Given the description of an element on the screen output the (x, y) to click on. 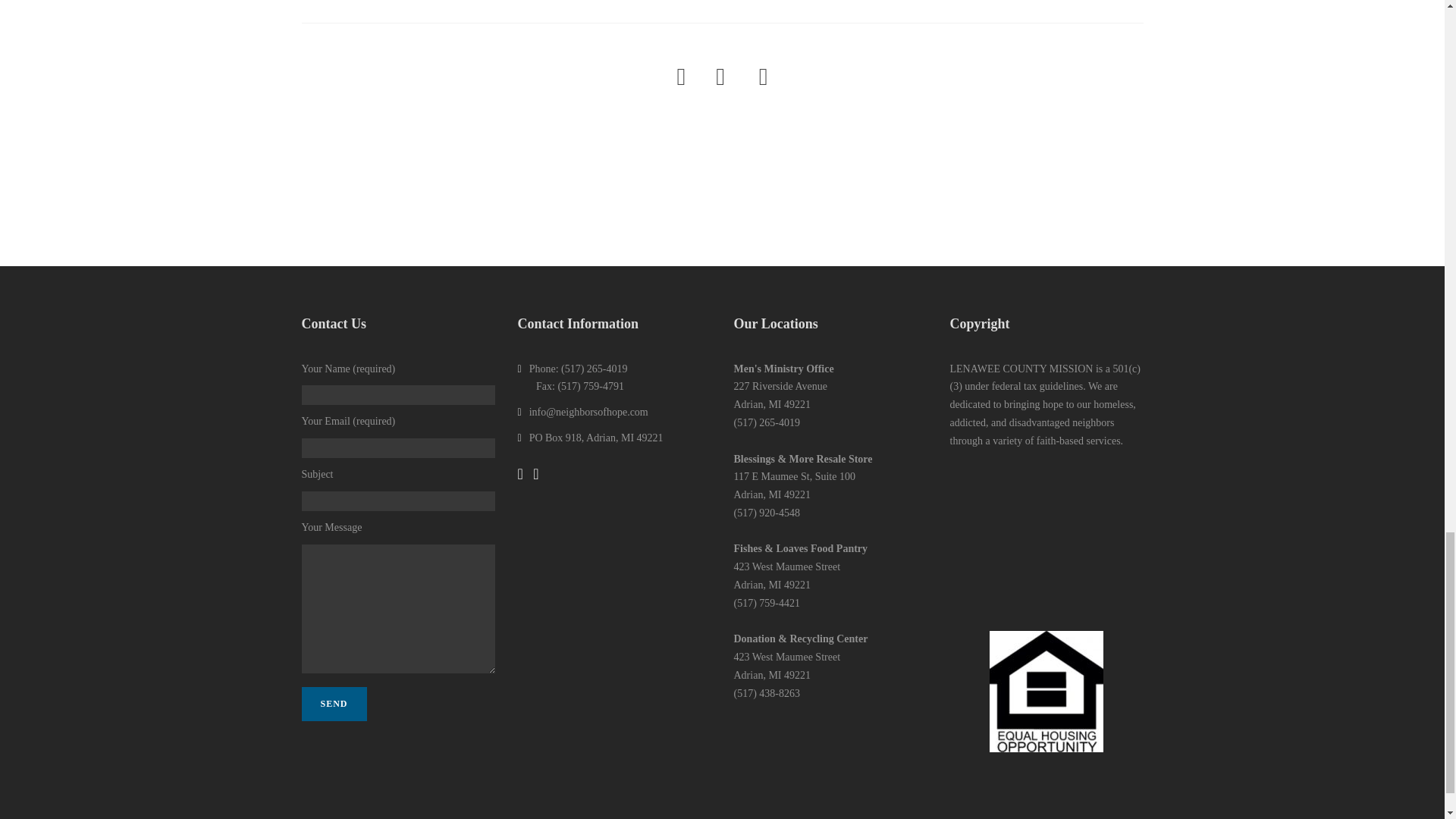
Send (333, 704)
Send (333, 704)
